Given the description of an element on the screen output the (x, y) to click on. 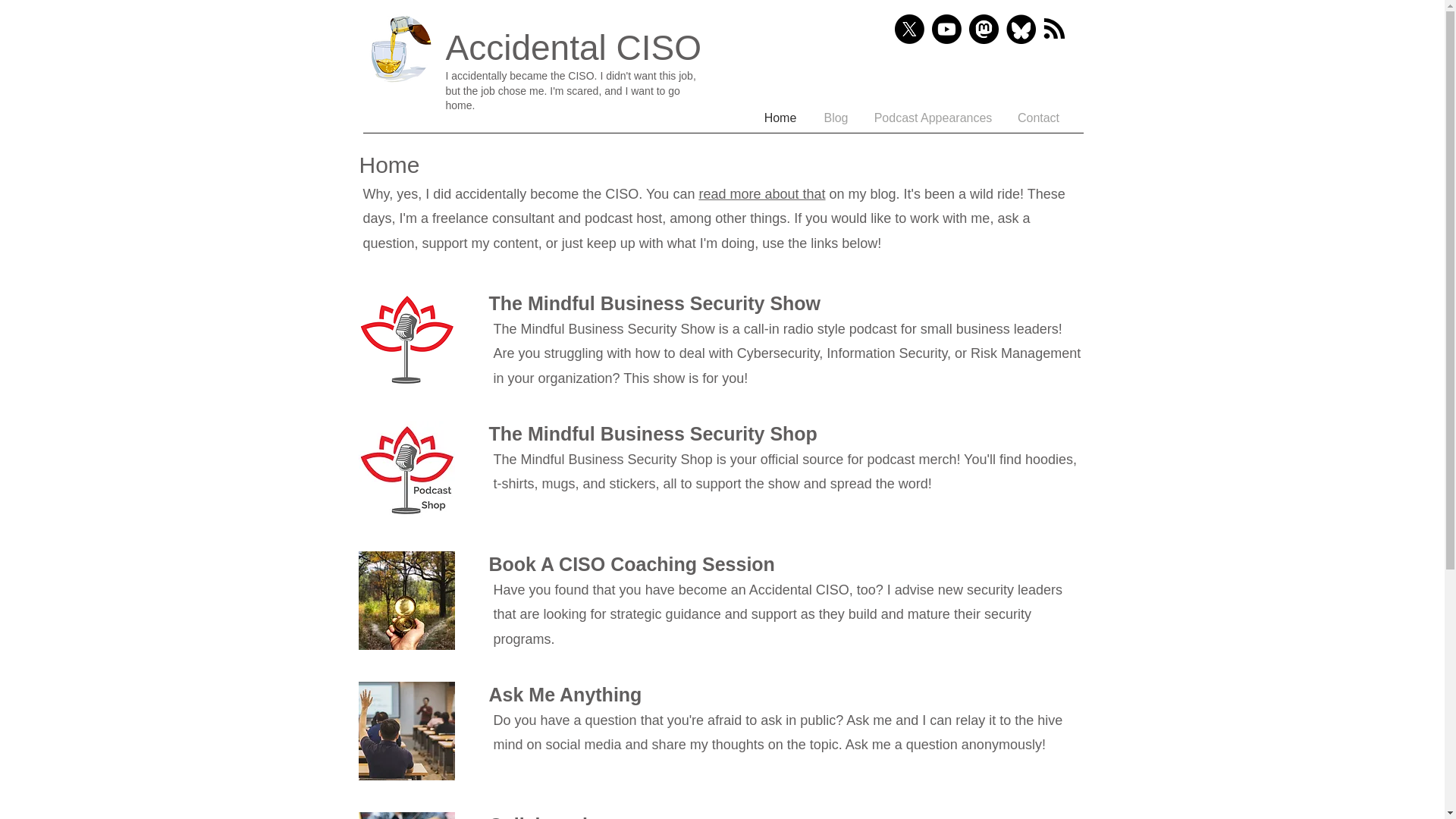
Contact (1037, 118)
Podcast Appearances (932, 118)
Blog (835, 118)
Contact Me Today! (406, 815)
Ask Me Anything! (406, 730)
Accidental CISO (573, 47)
Home (780, 118)
Buy Podcast Merch! (406, 469)
Book A Coaching Session! (406, 600)
Listen Now! (406, 339)
